Given the description of an element on the screen output the (x, y) to click on. 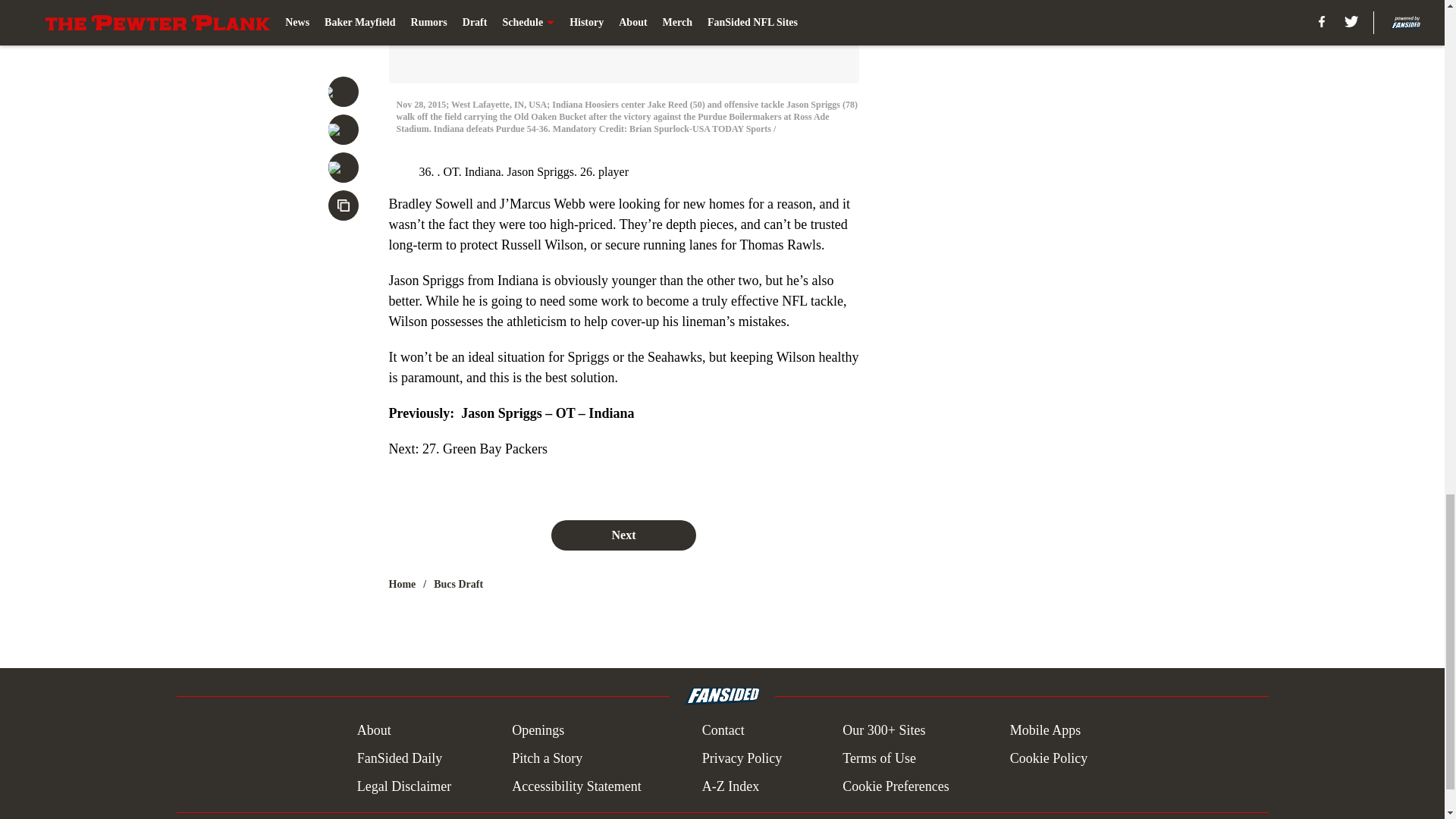
Cookie Policy (1048, 758)
Next (622, 535)
Accessibility Statement (576, 786)
Openings (538, 730)
Pitch a Story (547, 758)
Mobile Apps (1045, 730)
Contact (722, 730)
Privacy Policy (742, 758)
A-Z Index (729, 786)
About (373, 730)
